Given the description of an element on the screen output the (x, y) to click on. 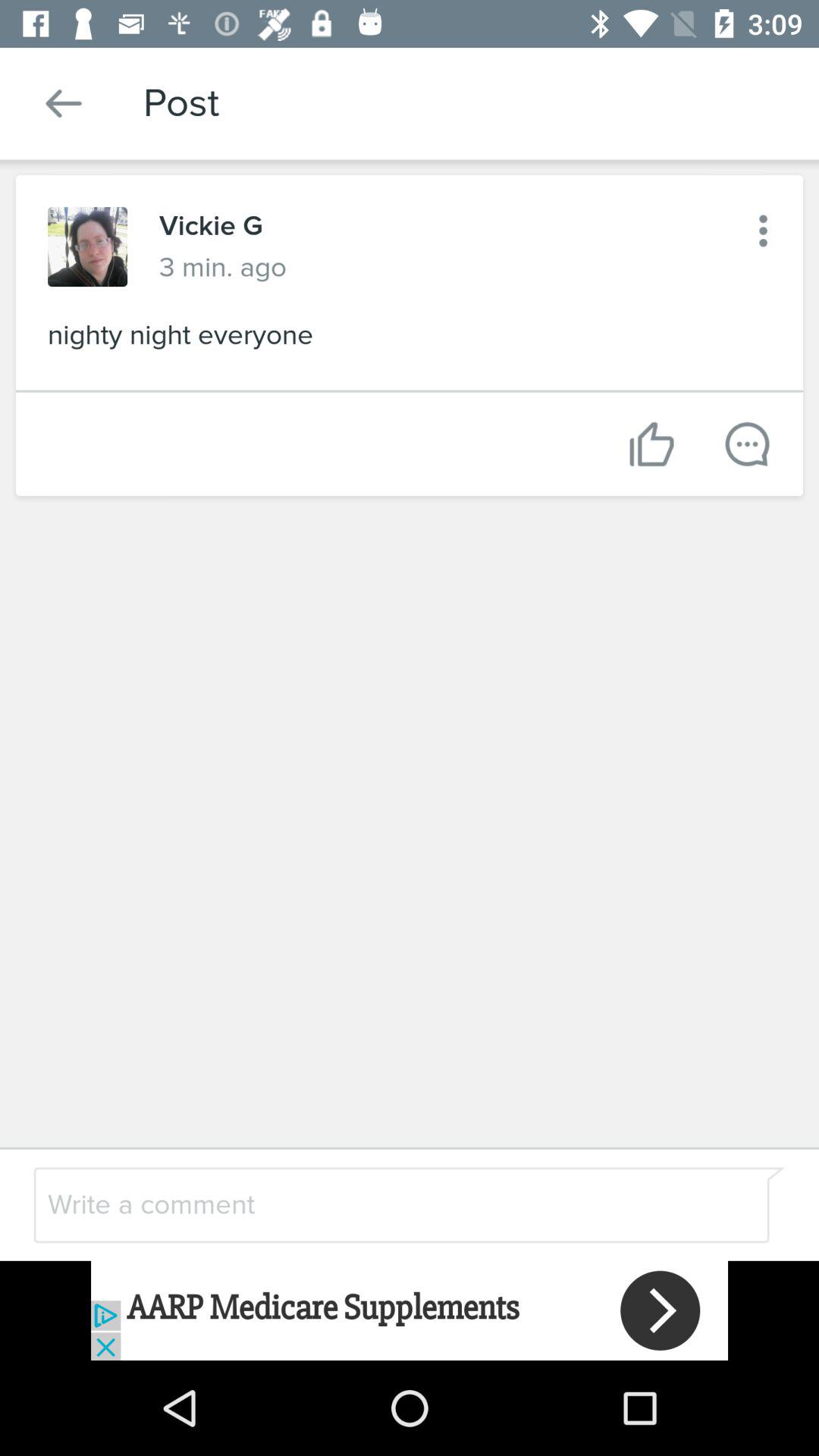
go to massage (747, 444)
